Given the description of an element on the screen output the (x, y) to click on. 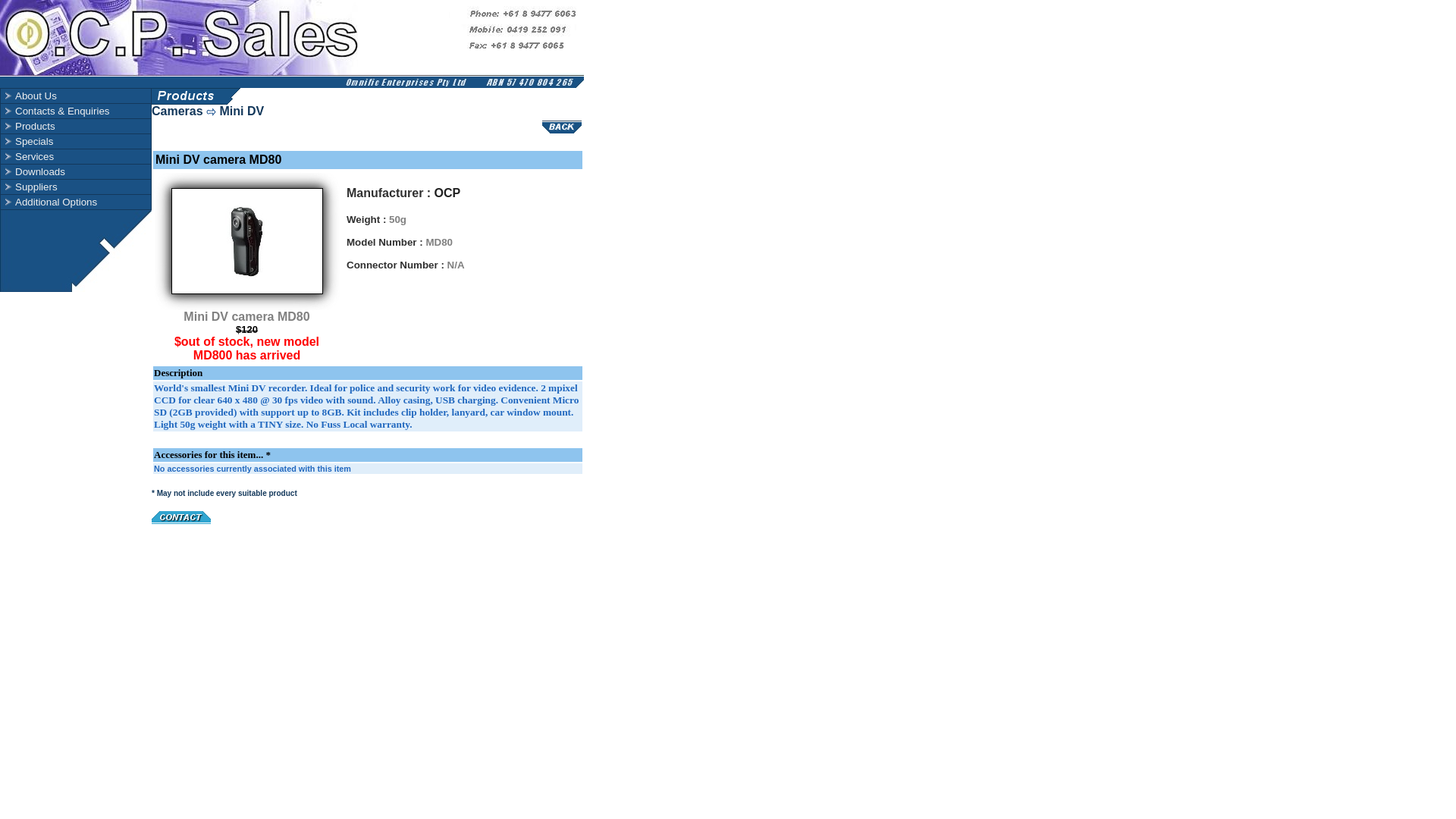
OCP Element type: text (447, 192)
Suppliers Element type: text (75, 186)
About Us Element type: text (75, 95)
Additional Options Element type: text (49, 201)
Downloads Element type: text (33, 171)
About Us Element type: text (29, 95)
Services Element type: text (75, 156)
Specials Element type: text (27, 141)
Products Element type: text (28, 125)
Contacts & Enquiries Element type: text (55, 110)
Suppliers Element type: text (29, 186)
Services Element type: text (27, 156)
Contacts & Enquiries Element type: text (75, 110)
Downloads Element type: text (75, 171)
